Given the description of an element on the screen output the (x, y) to click on. 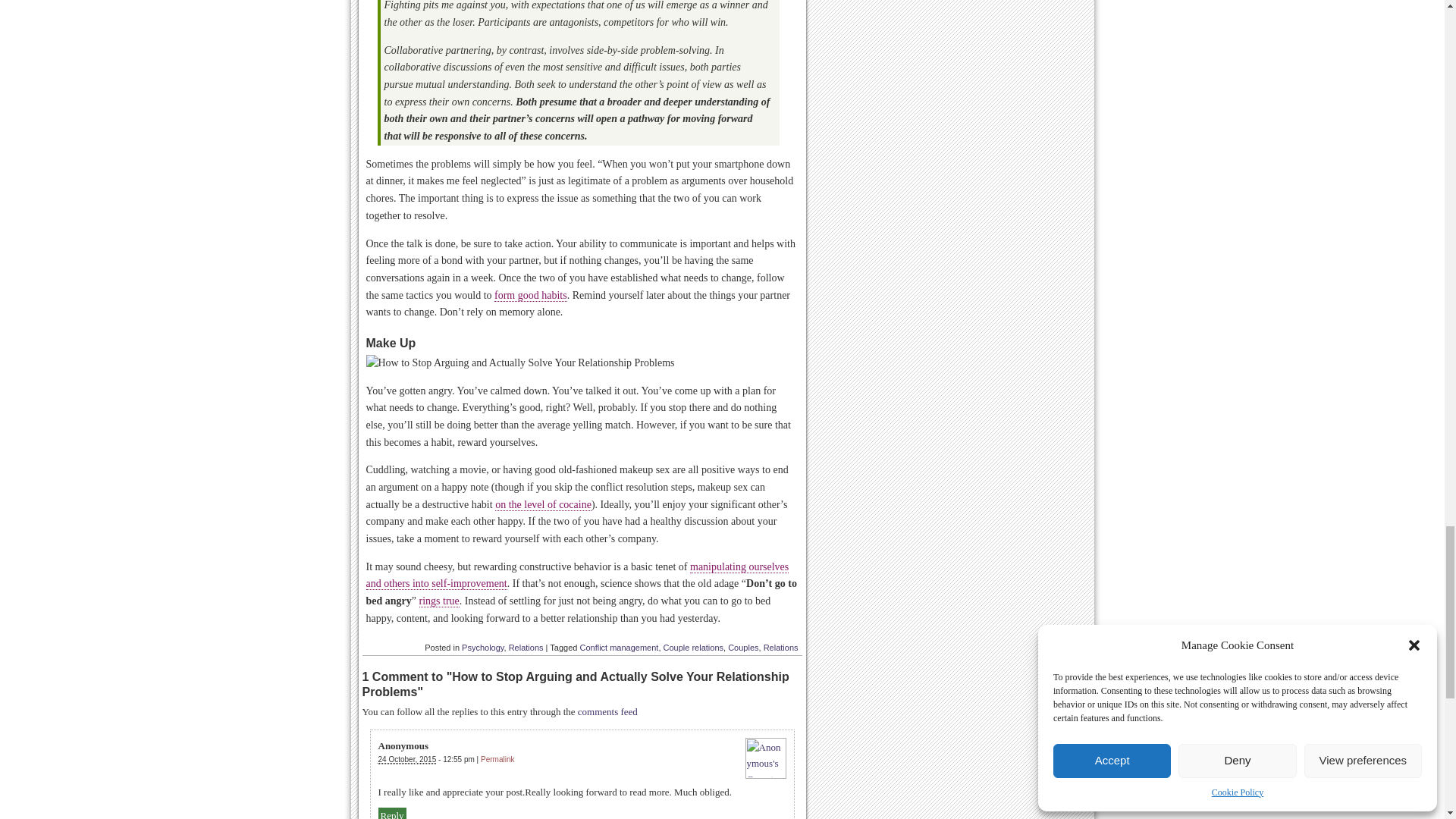
24 October, 2015 (406, 759)
Permalink to this comment (496, 759)
